Given the description of an element on the screen output the (x, y) to click on. 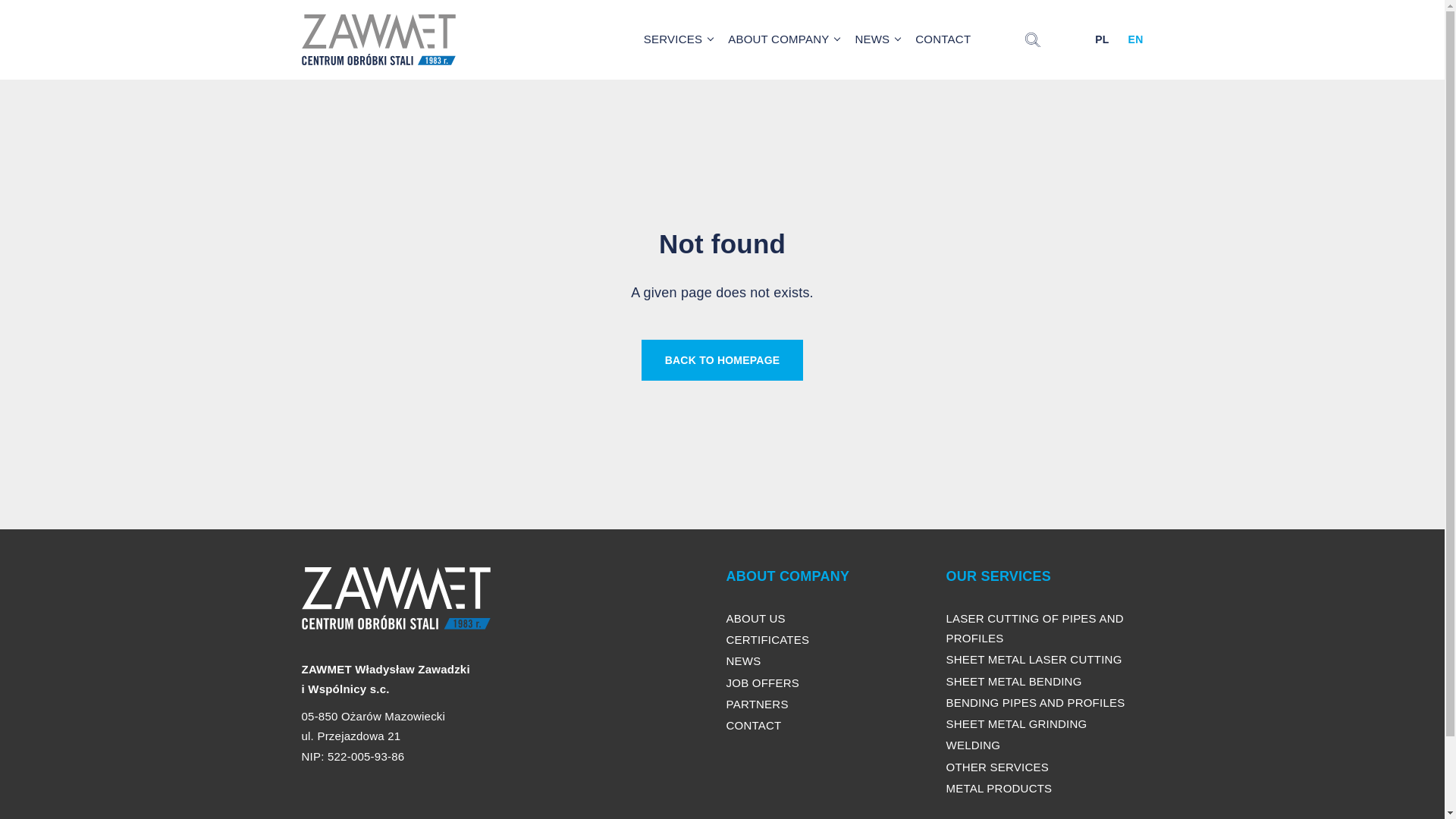
JOB OFFERS (762, 682)
NEWS (743, 660)
WELDING (973, 744)
BACK TO HOMEPAGE (722, 360)
OTHER SERVICES (997, 766)
METAL PRODUCTS (999, 788)
CONTACT (753, 725)
SHEET METAL LASER CUTTING (1034, 658)
CONTACT (943, 39)
LASER CUTTING OF PIPES AND PROFILES (1035, 627)
